Given the description of an element on the screen output the (x, y) to click on. 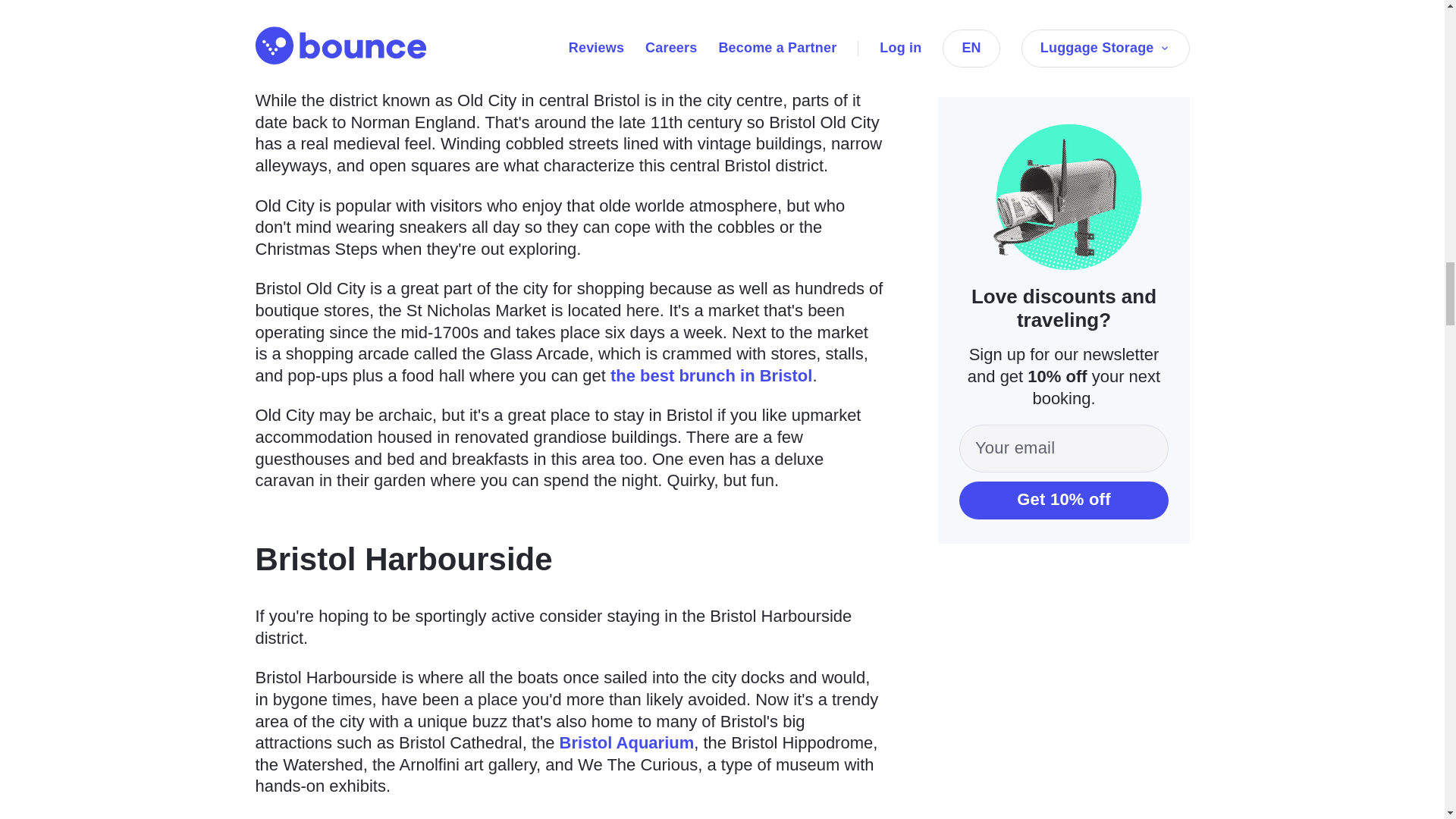
Bristol Aquarium (626, 742)
the best brunch in Bristol (711, 375)
